Given the description of an element on the screen output the (x, y) to click on. 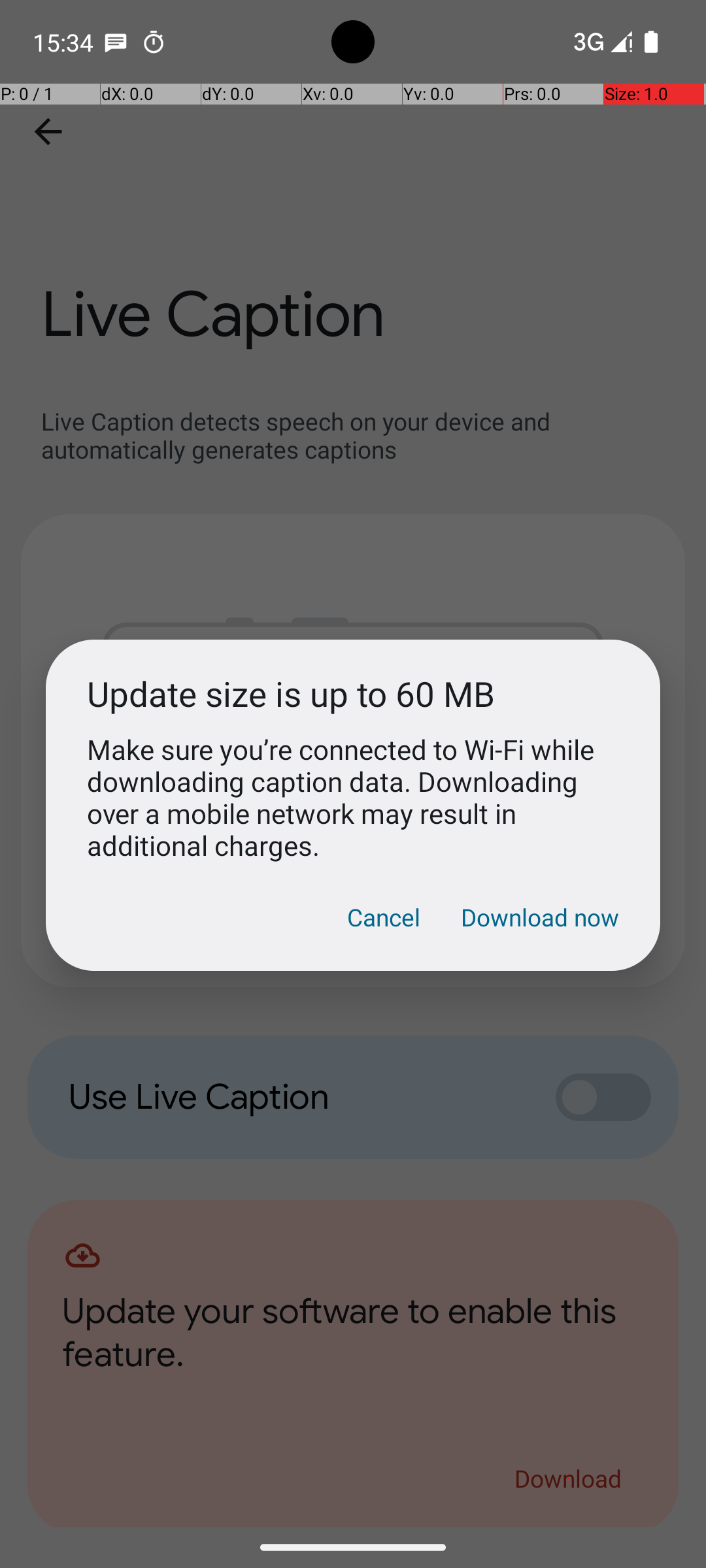
Update size is up to 60 MB Element type: android.widget.TextView (352, 693)
Make sure you’re connected to Wi-Fi while downloading caption data. Downloading over a mobile network may result in additional charges. Element type: android.widget.TextView (352, 796)
Download now Element type: android.widget.Button (539, 916)
